Given the description of an element on the screen output the (x, y) to click on. 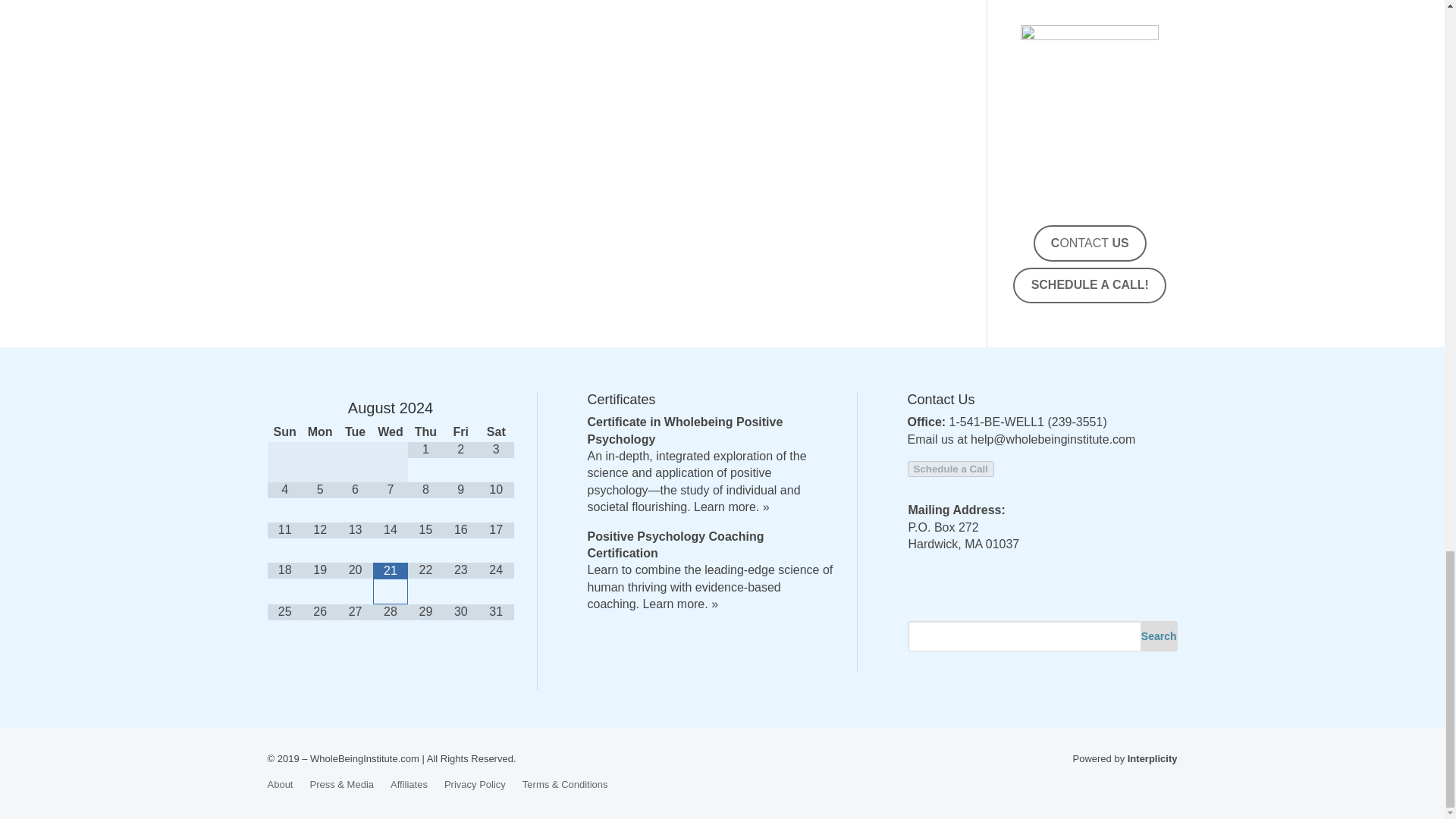
CONTACT US (1090, 243)
Search (1158, 635)
Positive Psychology Coaching Certification (674, 544)
Affiliates (409, 781)
Schedule a Call (950, 468)
Schedule a Call (950, 468)
Search (1158, 635)
Privacy Policy (474, 781)
SCHEDULE A CALL! (1089, 285)
About (279, 781)
